Given the description of an element on the screen output the (x, y) to click on. 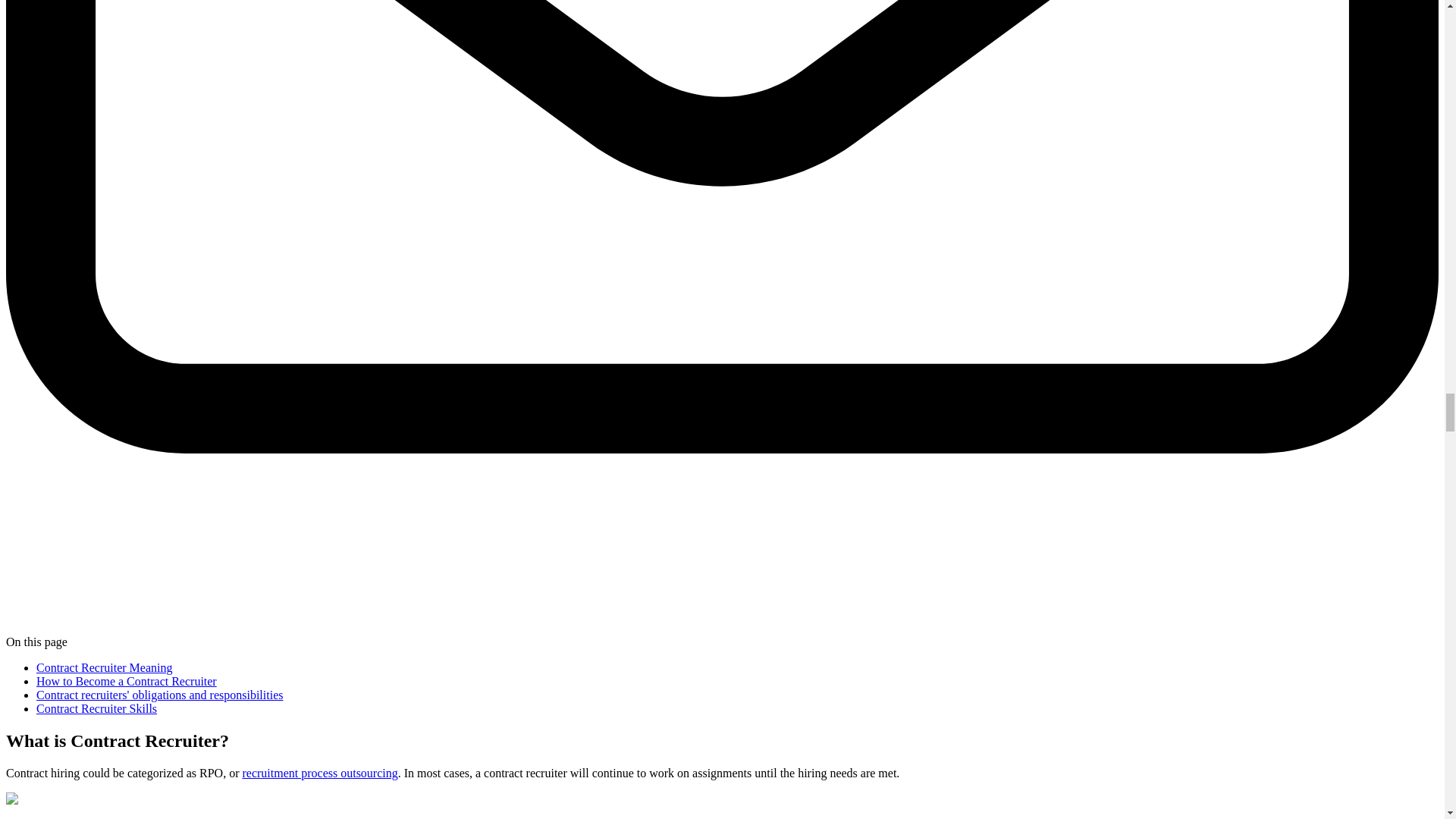
How to Become a Contract Recruiter (126, 680)
recruitment process outsourcing (319, 772)
Contract Recruiter Skills (96, 707)
Contract Recruiter Meaning (104, 667)
Contract recruiters' obligations and responsibilities (159, 694)
